Given the description of an element on the screen output the (x, y) to click on. 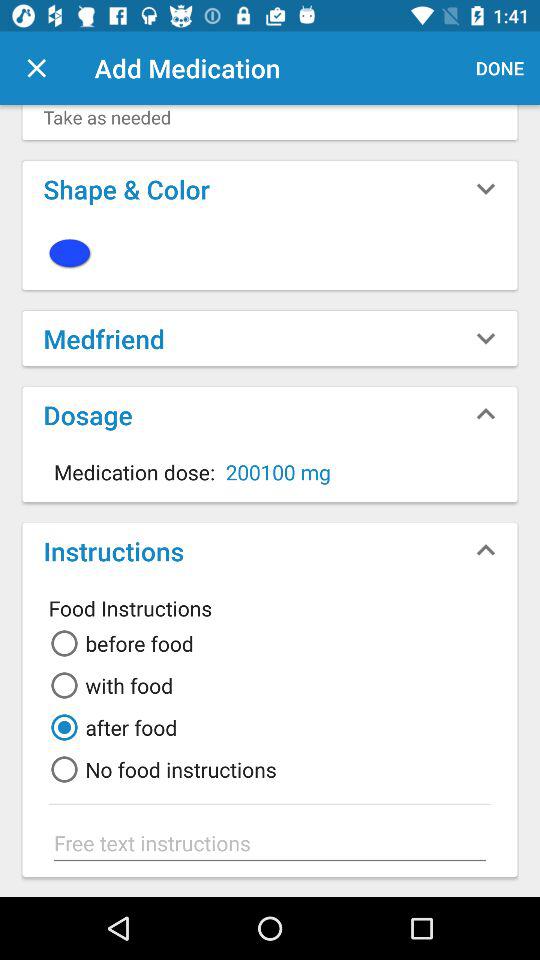
select icon (269, 252)
